Given the description of an element on the screen output the (x, y) to click on. 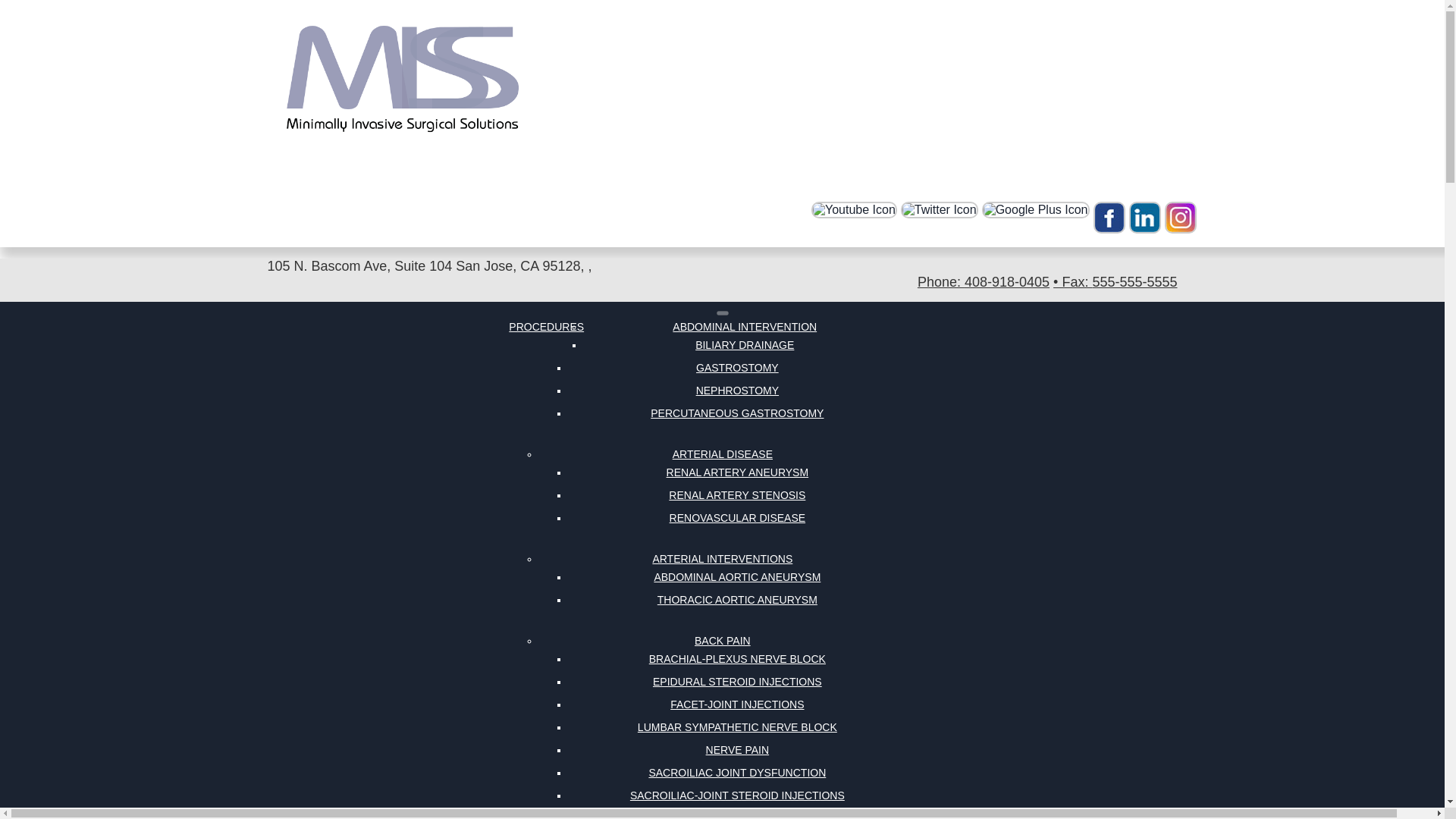
PROCEDURES (545, 326)
ABDOMINAL INTERVENTION (744, 326)
BILIARY DRAINAGE (744, 344)
GASTROSTOMY (737, 367)
408-918-0405 (983, 281)
555-555-5555 (1114, 281)
